Given the description of an element on the screen output the (x, y) to click on. 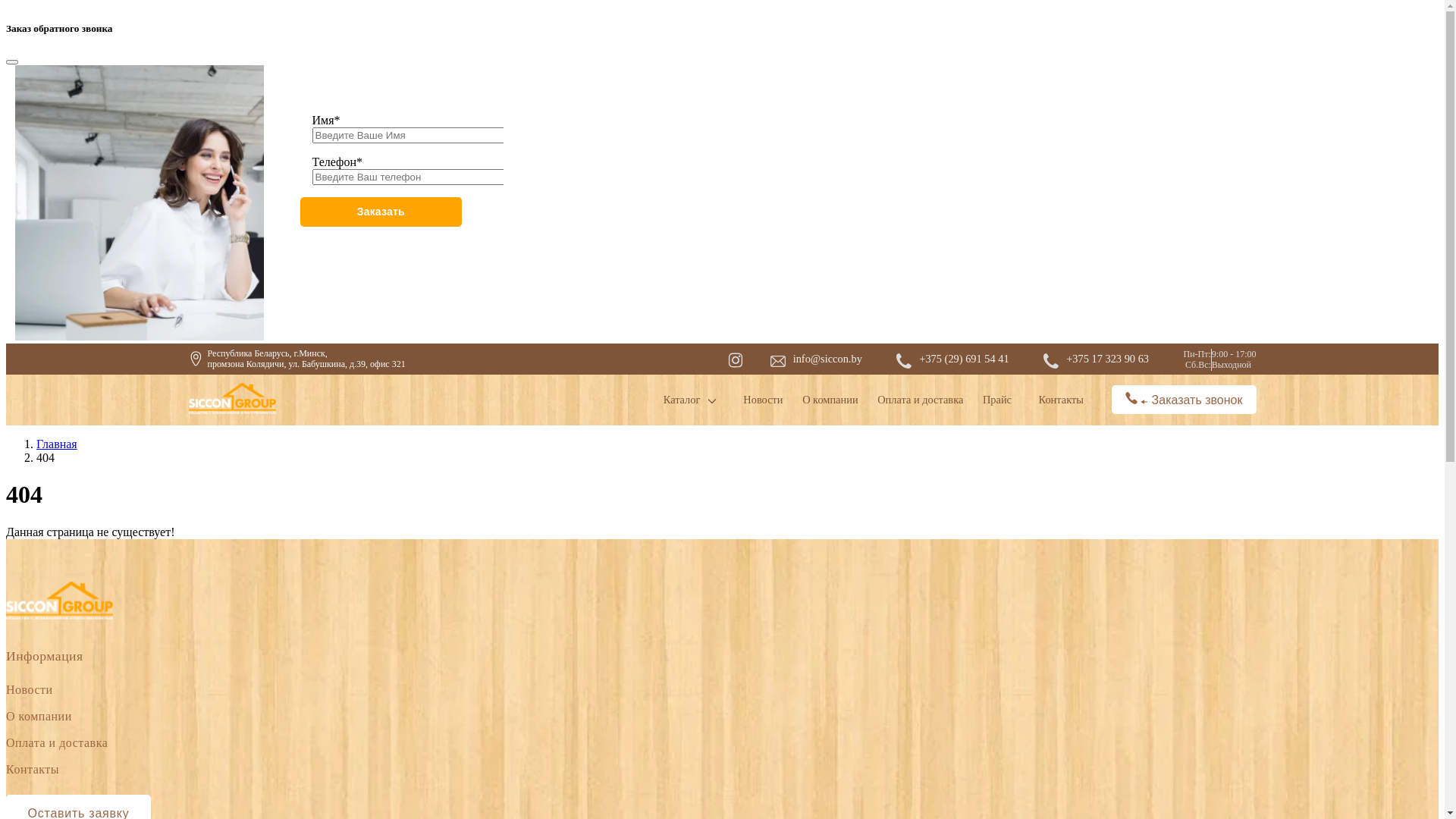
info@siccon.by Element type: text (827, 358)
+375 (29) 691 54 41 Element type: text (963, 358)
+375 17 323 90 63 Element type: text (1107, 358)
